Given the description of an element on the screen output the (x, y) to click on. 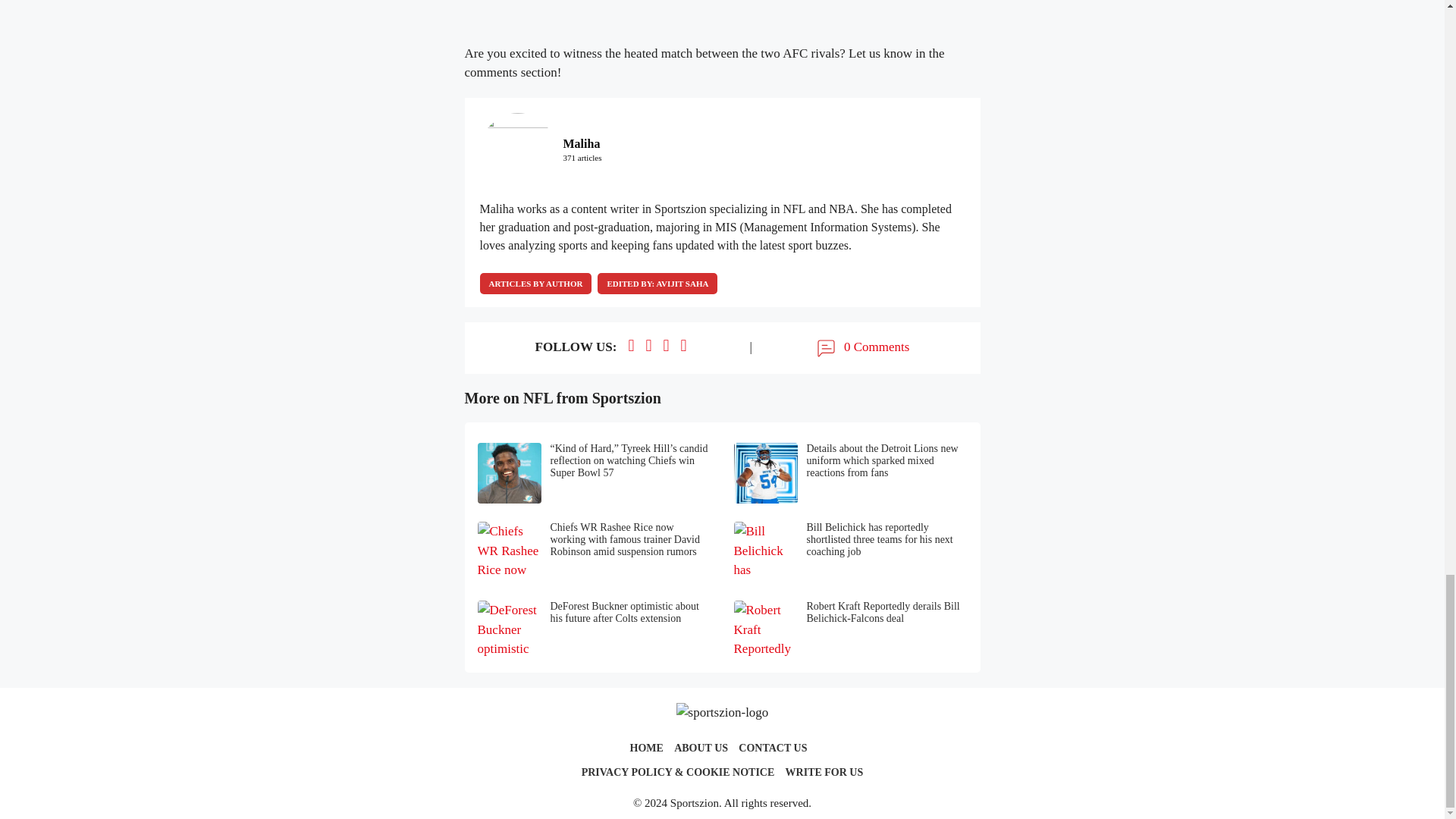
Robert Kraft Reportedly derails Bill Belichick-Falcons deal (850, 630)
ARTICLES BY AUTHOR (535, 283)
EDITED BY: AVIJIT SAHA (656, 283)
0 Comments (861, 347)
